Given the description of an element on the screen output the (x, y) to click on. 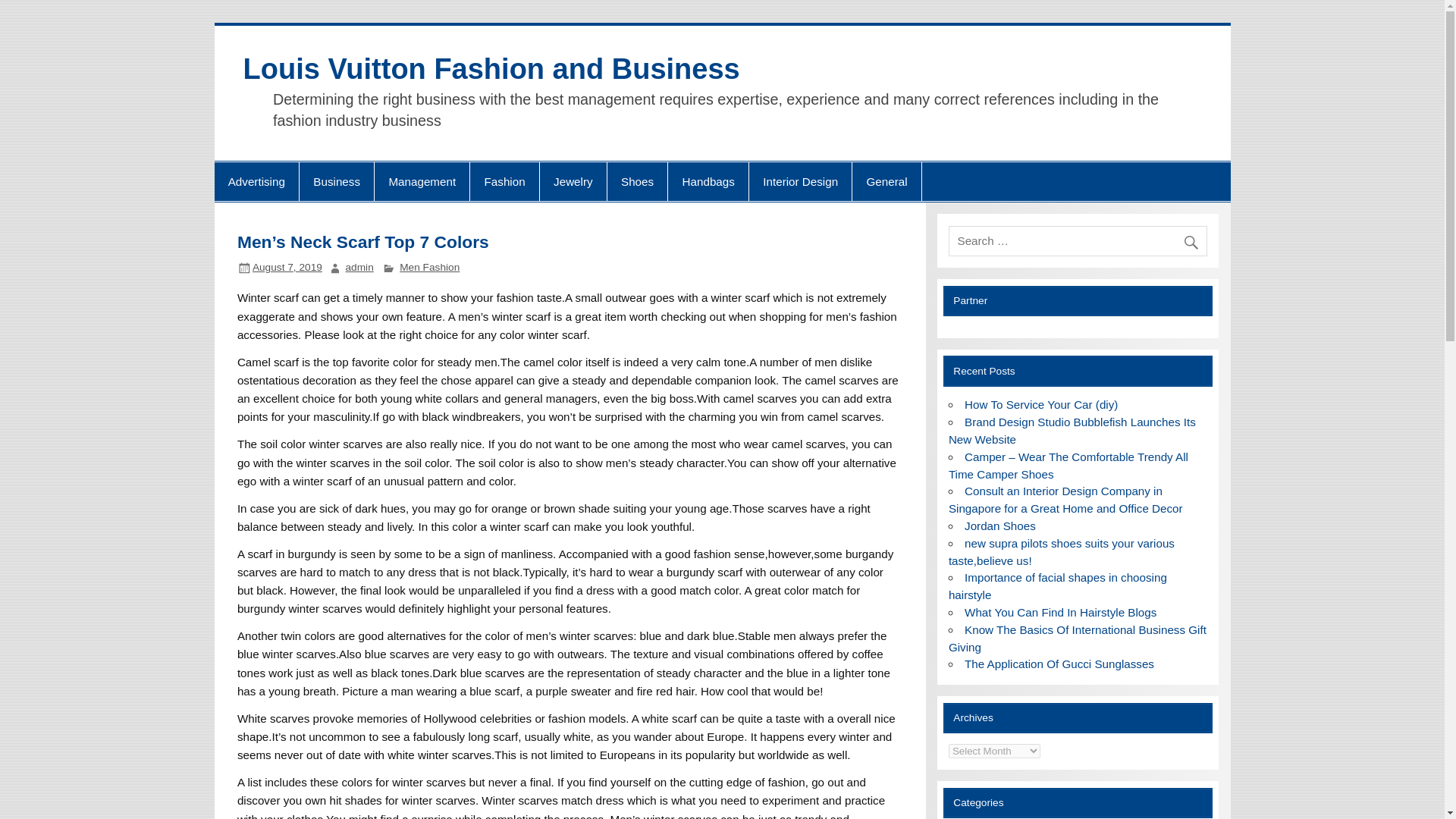
View all posts by admin (360, 266)
10:49 am (286, 266)
Jewelry (573, 181)
Interior Design (800, 181)
The Application Of Gucci Sunglasses (1058, 663)
Know The Basics Of International Business Gift Giving (1078, 638)
Importance of facial shapes in choosing hairstyle (1058, 585)
admin (360, 266)
new supra pilots shoes suits your various taste,believe us! (1061, 552)
